Given the description of an element on the screen output the (x, y) to click on. 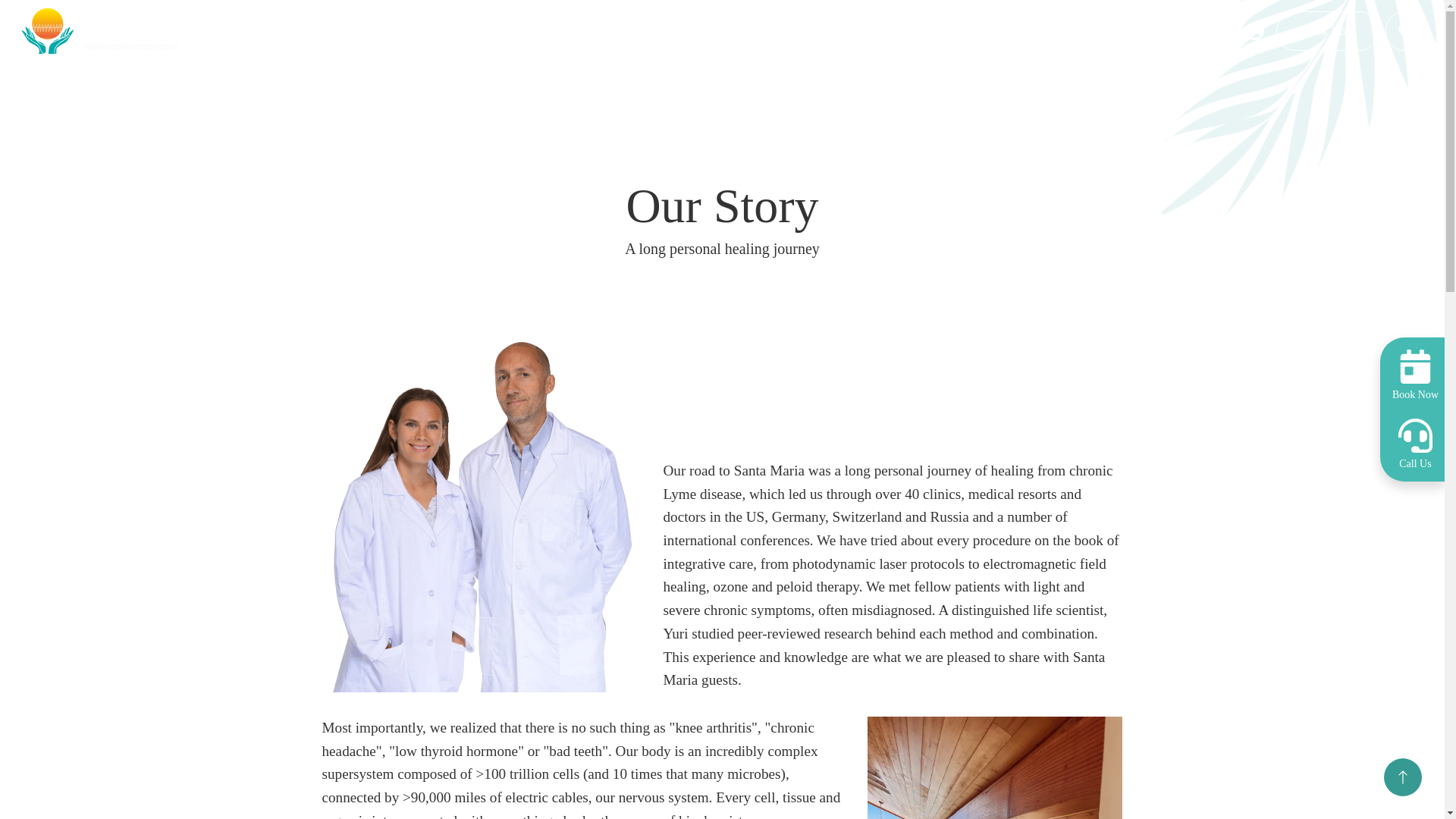
TESTIMONIALS (980, 30)
EN (1225, 30)
TREATMENTS (854, 30)
Book Now (1414, 374)
ABOUT SANTA MARIA (334, 30)
PRICES (1086, 30)
OUR STORY (473, 30)
HEALTH PROGRAMS (713, 30)
Call Us (1414, 443)
Book Now (1327, 30)
OUT TEAM (581, 30)
